Given the description of an element on the screen output the (x, y) to click on. 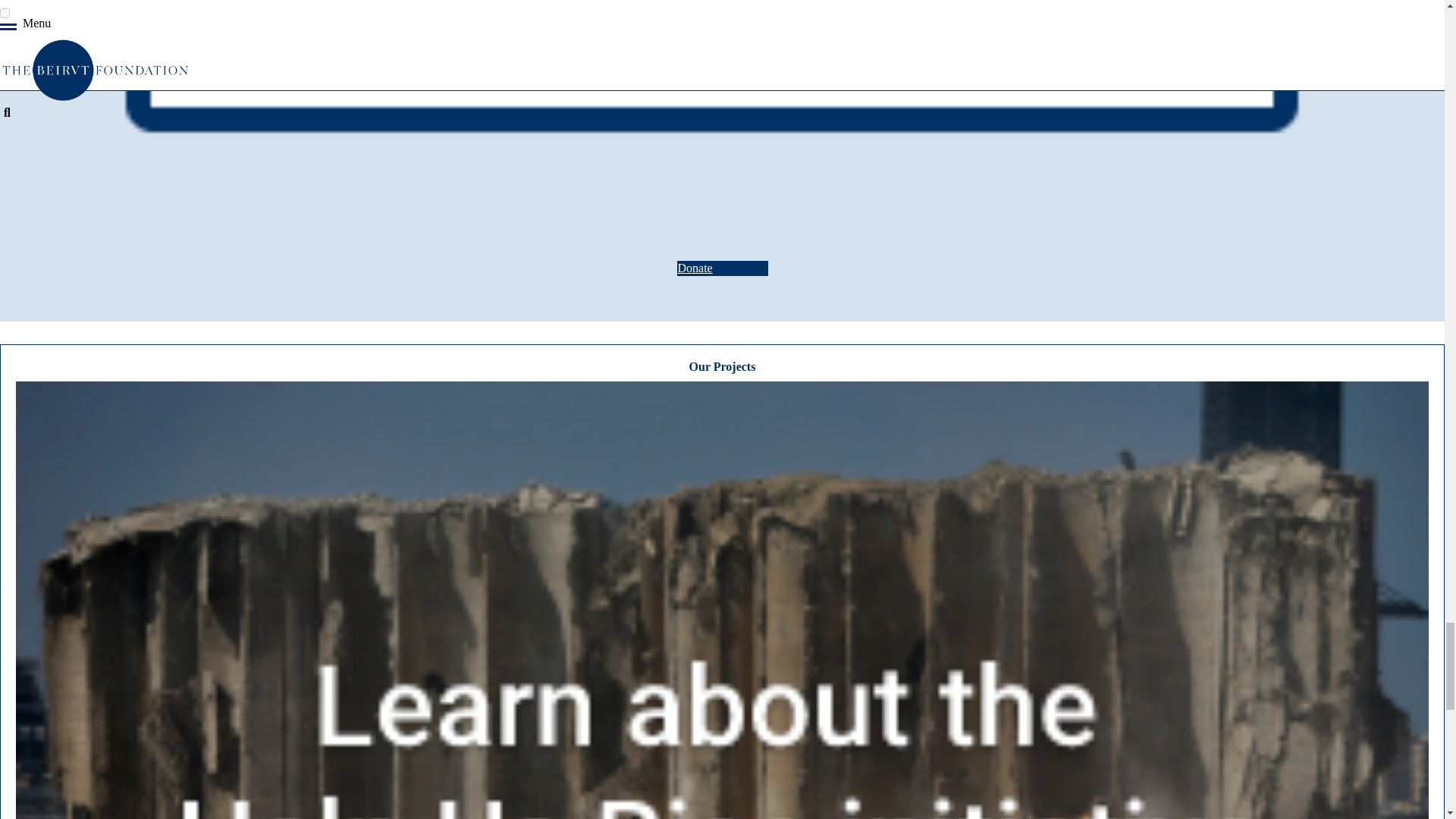
Donate (722, 268)
